Given the description of an element on the screen output the (x, y) to click on. 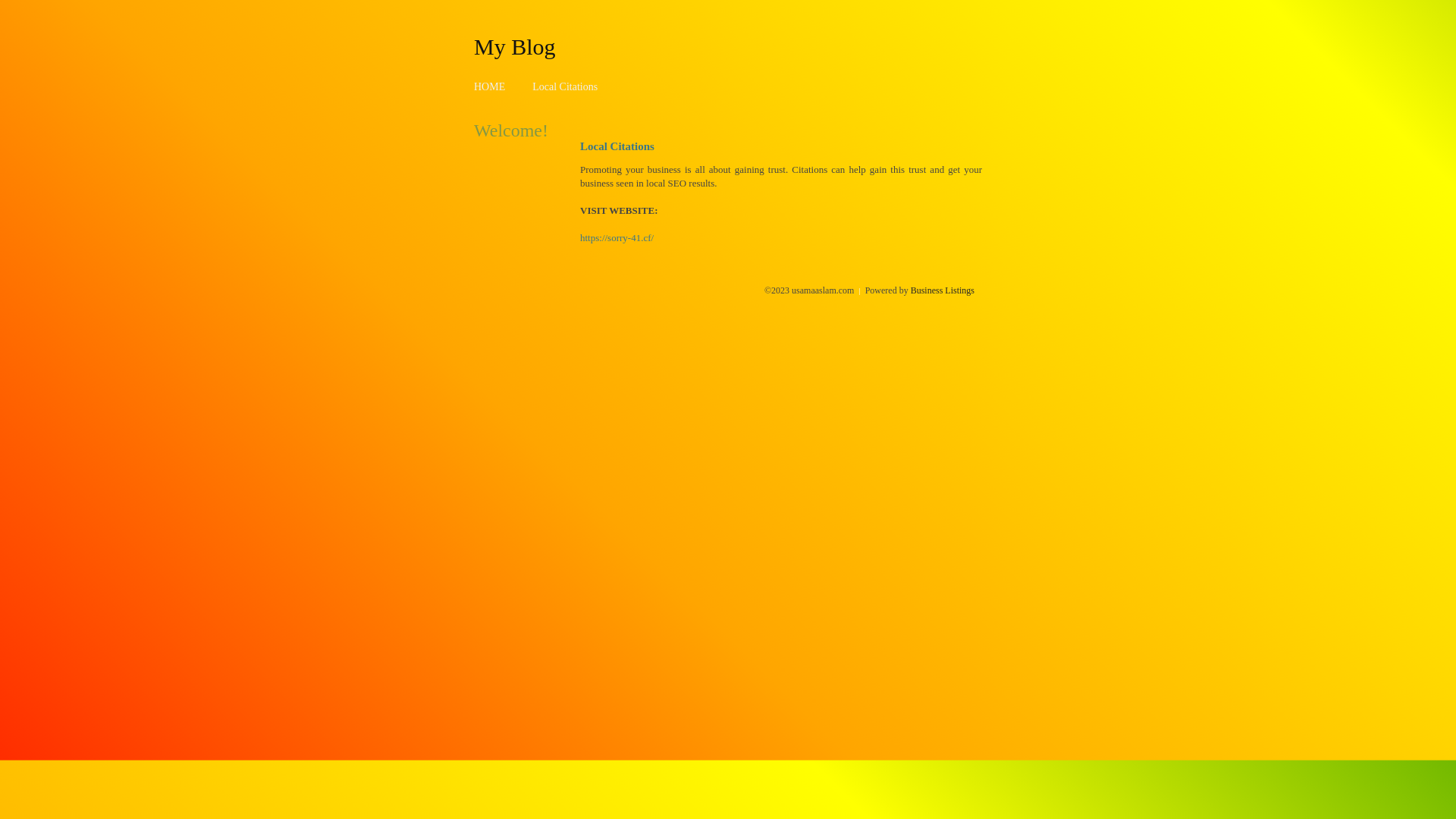
HOME Element type: text (489, 86)
https://sorry-41.cf/ Element type: text (616, 237)
Local Citations Element type: text (564, 86)
My Blog Element type: text (514, 46)
Business Listings Element type: text (942, 290)
